Given the description of an element on the screen output the (x, y) to click on. 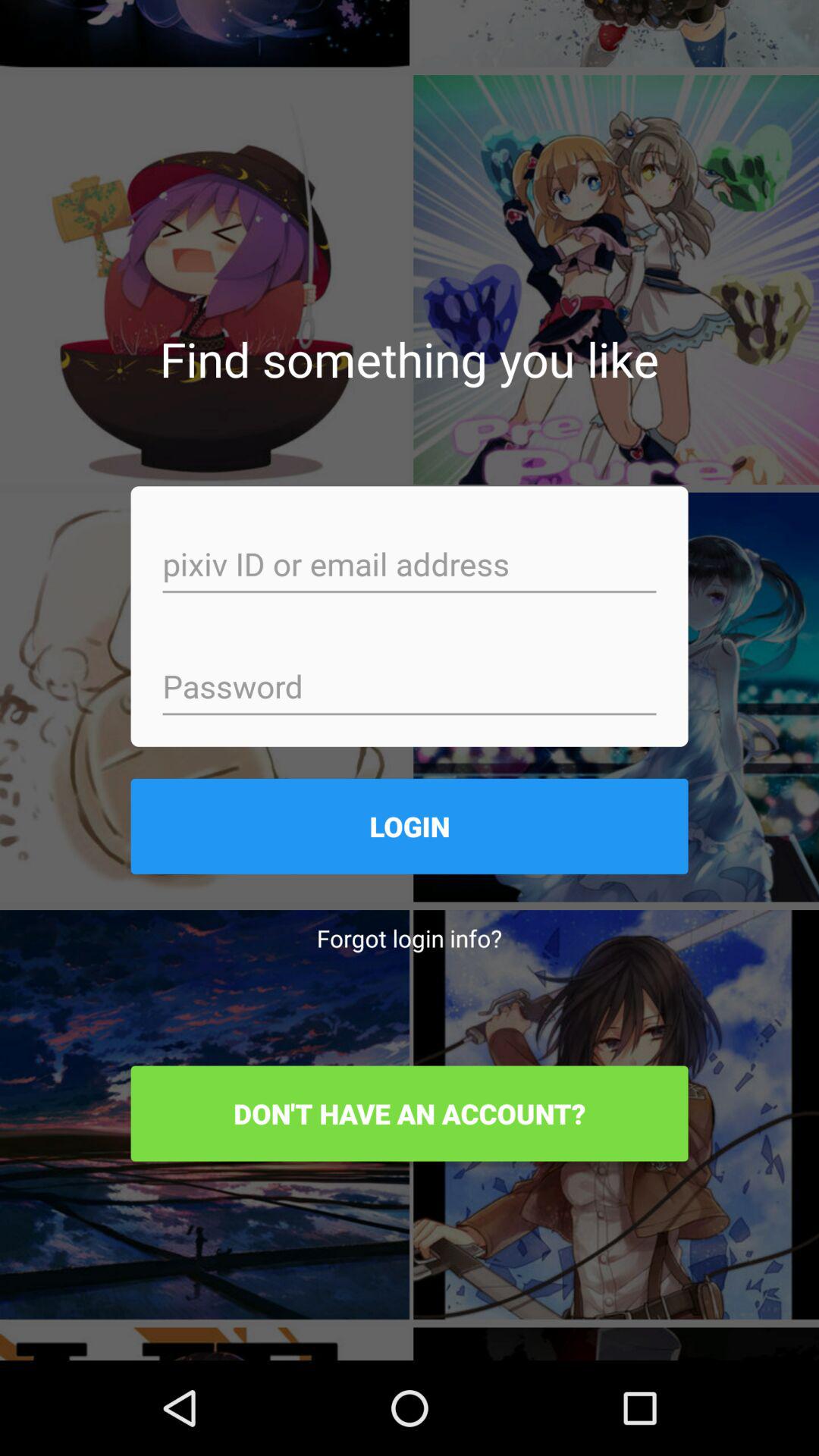
click item below forgot login info? item (409, 1113)
